Given the description of an element on the screen output the (x, y) to click on. 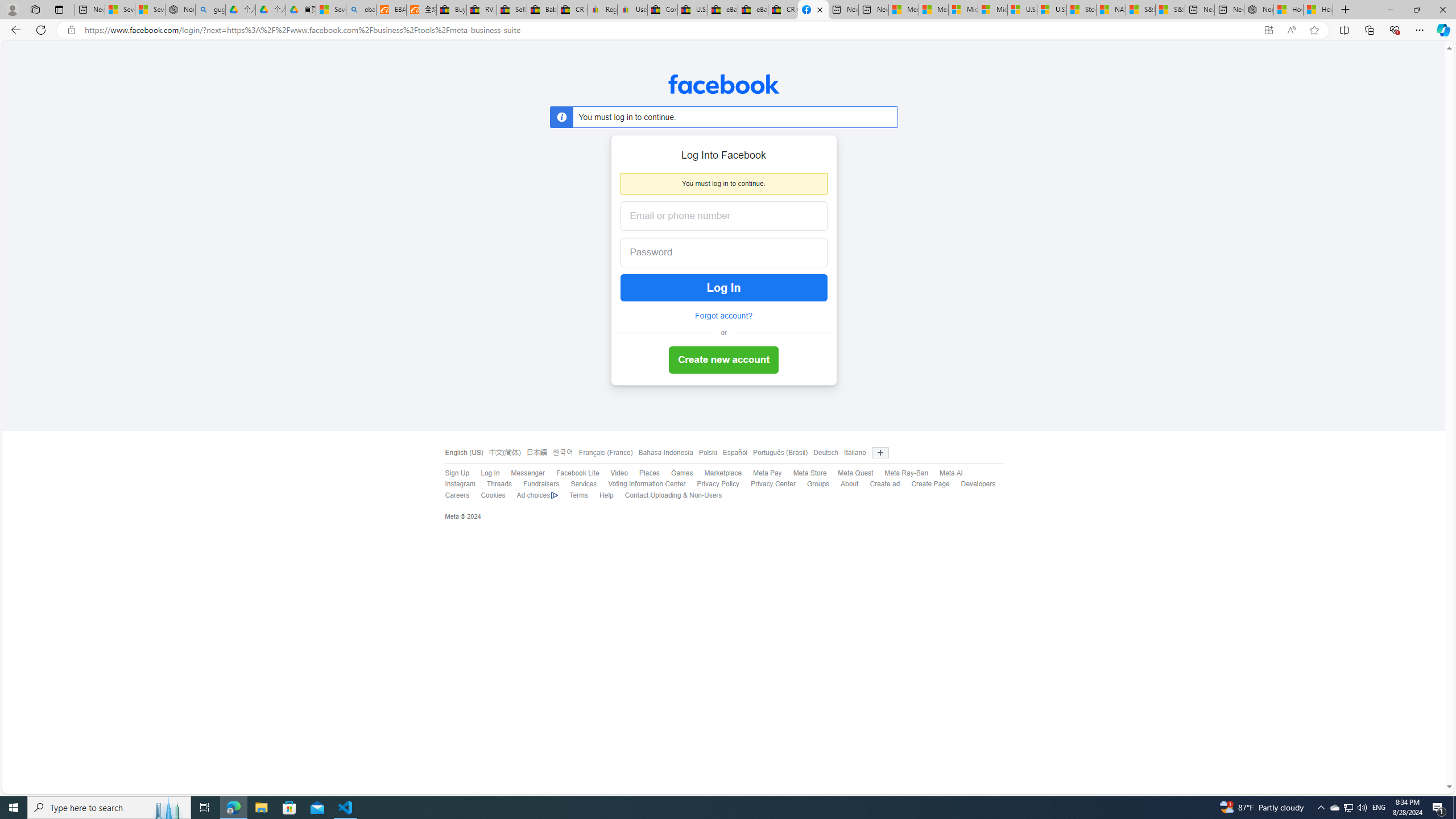
Meta AI (950, 473)
Privacy Center (772, 483)
Developers (972, 484)
Meta Quest (855, 473)
Polski (707, 452)
Create Page (924, 484)
U.S. State Privacy Disclosures - eBay Inc. (691, 9)
Marketplace (722, 473)
Games (676, 473)
Facebook Lite (571, 473)
